Given the description of an element on the screen output the (x, y) to click on. 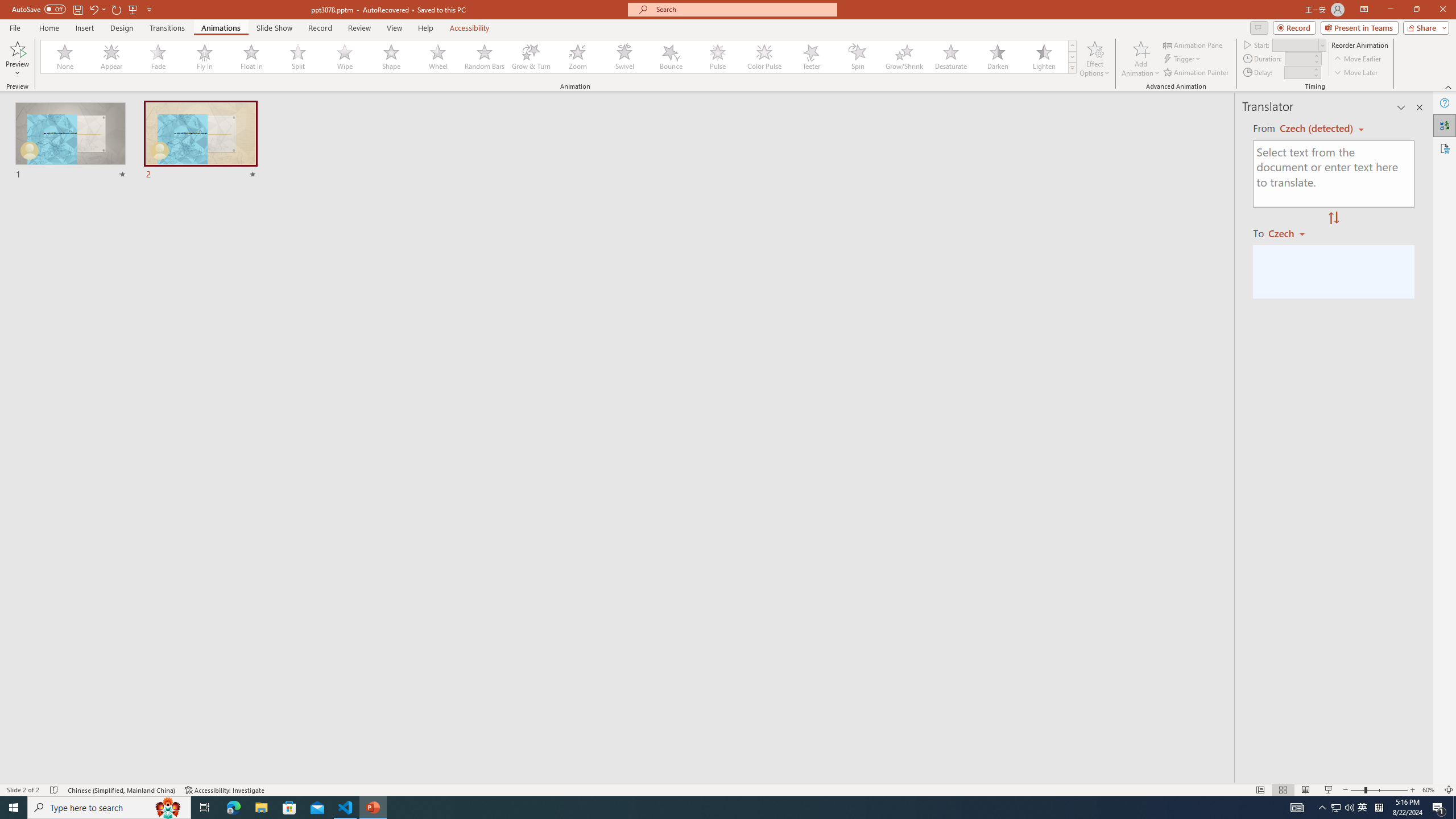
Accounts - Sign in requested (76, 690)
Debug Console (Ctrl+Shift+Y) (486, 533)
Output (Ctrl+Shift+U) (395, 533)
